Given the description of an element on the screen output the (x, y) to click on. 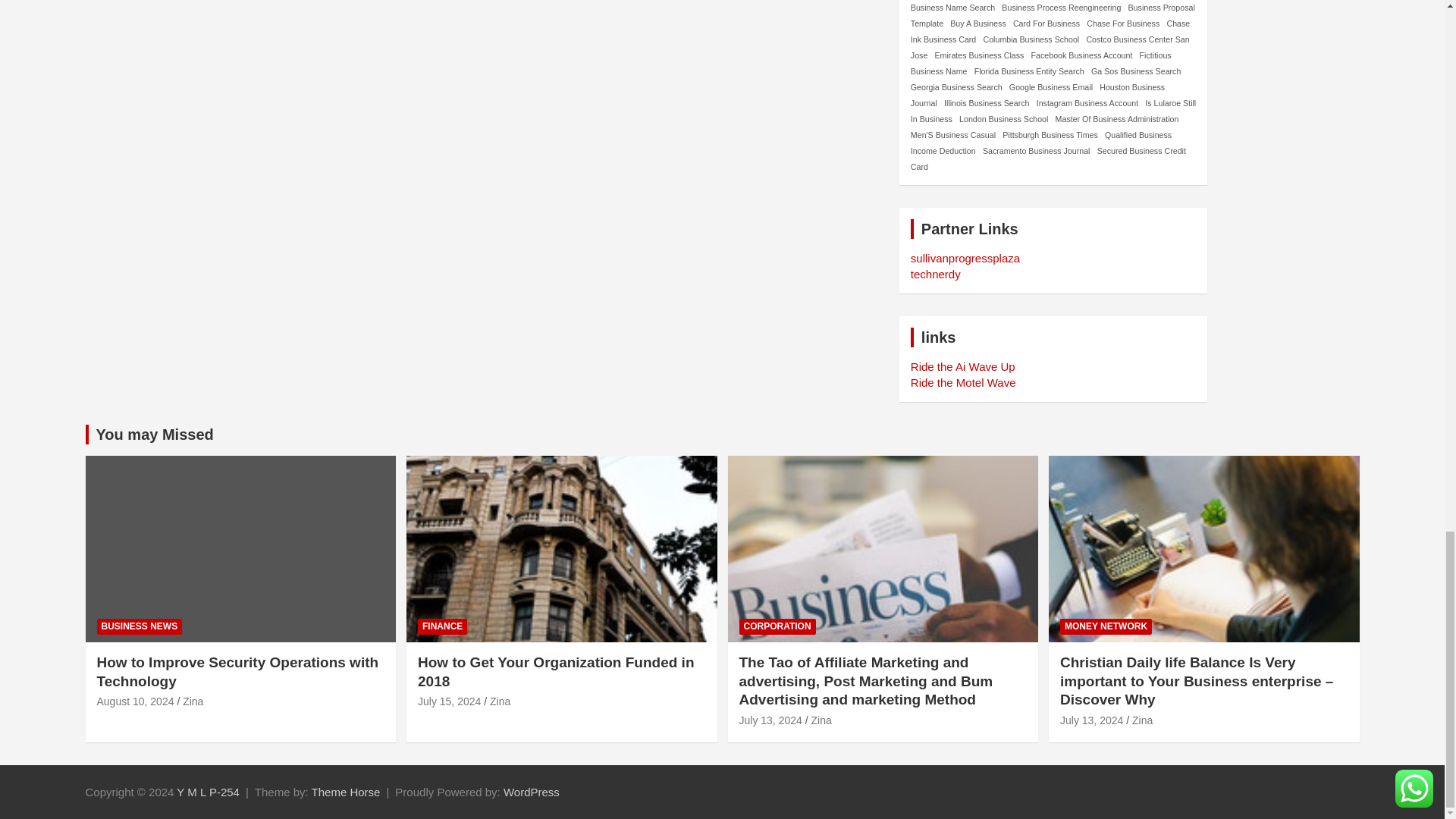
How to Improve Security Operations with Technology (135, 701)
WordPress (531, 791)
Theme Horse (345, 791)
Y M L P-254 (208, 791)
How to Get Your Organization Funded in 2018 (448, 701)
